Given the description of an element on the screen output the (x, y) to click on. 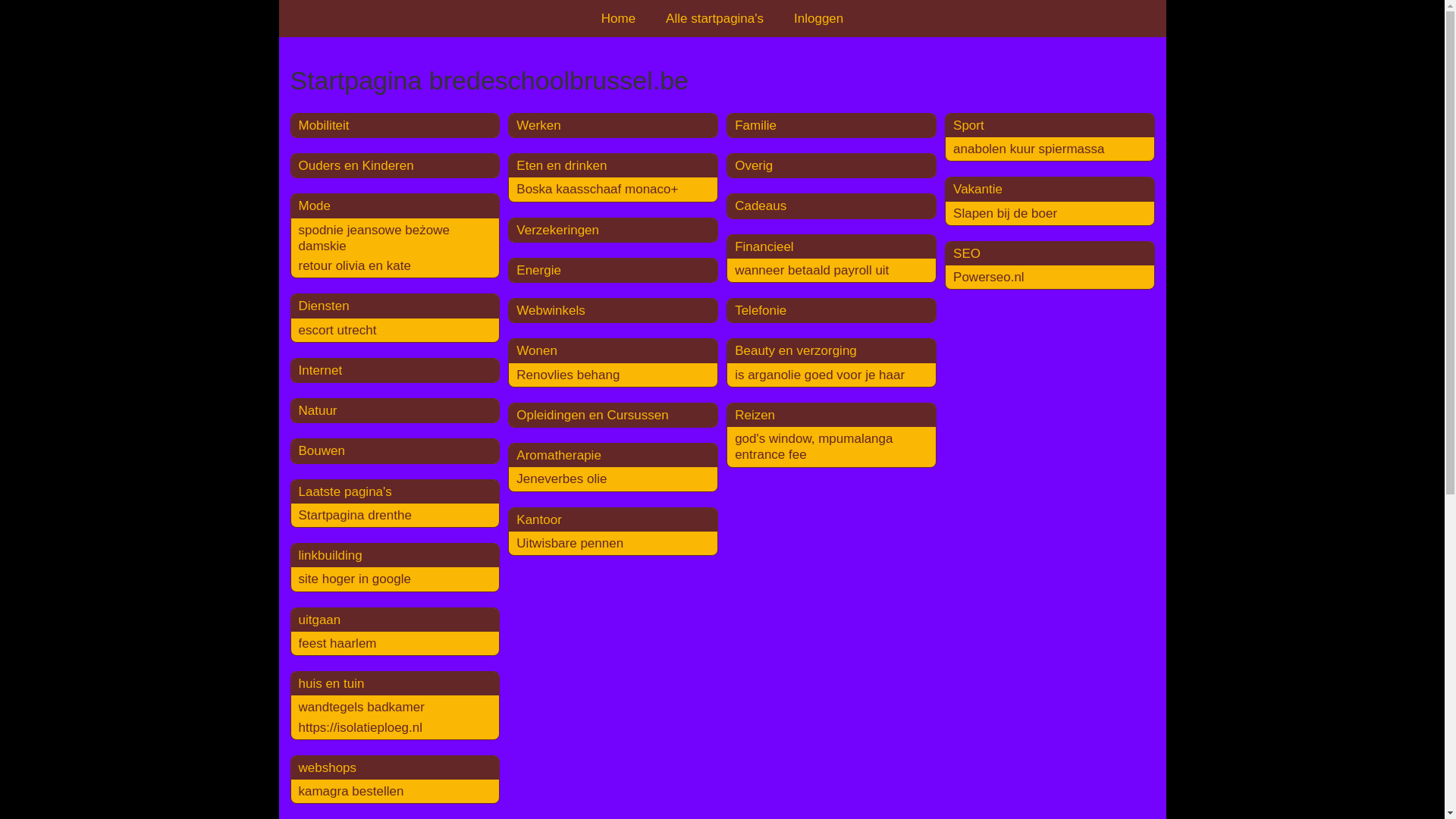
Energie Element type: text (538, 270)
Jeneverbes olie Element type: text (561, 478)
uitgaan Element type: text (319, 619)
Verzekeringen Element type: text (557, 229)
Opleidingen en Cursussen Element type: text (592, 414)
Kantoor Element type: text (538, 519)
Startpagina bredeschoolbrussel.be Element type: text (721, 80)
Wonen Element type: text (536, 350)
god's window, mpumalanga entrance fee Element type: text (813, 446)
Werken Element type: text (538, 125)
Slapen bij de boer Element type: text (1005, 213)
retour olivia en kate Element type: text (354, 265)
is arganolie goed voor je haar Element type: text (819, 374)
webshops Element type: text (327, 767)
Mobiliteit Element type: text (323, 125)
Sport Element type: text (968, 125)
Vakantie Element type: text (977, 189)
Reizen Element type: text (754, 414)
Cadeaus Element type: text (760, 205)
huis en tuin Element type: text (331, 683)
linkbuilding Element type: text (330, 555)
Webwinkels Element type: text (550, 310)
Powerseo.nl Element type: text (988, 276)
Home Element type: text (618, 18)
Renovlies behang Element type: text (567, 374)
Bouwen Element type: text (321, 450)
wandtegels badkamer Element type: text (361, 706)
Financieel Element type: text (763, 246)
Uitwisbare pennen Element type: text (569, 543)
Internet Element type: text (320, 370)
Inloggen Element type: text (818, 18)
Telefonie Element type: text (760, 310)
wanneer betaald payroll uit Element type: text (811, 270)
Ouders en Kinderen Element type: text (356, 165)
SEO Element type: text (966, 253)
Beauty en verzorging Element type: text (795, 350)
Startpagina drenthe Element type: text (354, 515)
https://isolatieploeg.nl Element type: text (360, 727)
Alle startpagina's Element type: text (714, 18)
Boska kaasschaaf monaco+ Element type: text (596, 189)
Mode Element type: text (314, 205)
site hoger in google Element type: text (354, 578)
anabolen kuur spiermassa Element type: text (1028, 148)
escort utrecht Element type: text (337, 330)
feest haarlem Element type: text (337, 643)
Overig Element type: text (753, 165)
Diensten Element type: text (323, 305)
Aromatherapie Element type: text (558, 455)
Natuur Element type: text (317, 410)
Familie Element type: text (755, 125)
kamagra bestellen Element type: text (351, 791)
Eten en drinken Element type: text (561, 165)
Laatste pagina's Element type: text (345, 491)
